Given the description of an element on the screen output the (x, y) to click on. 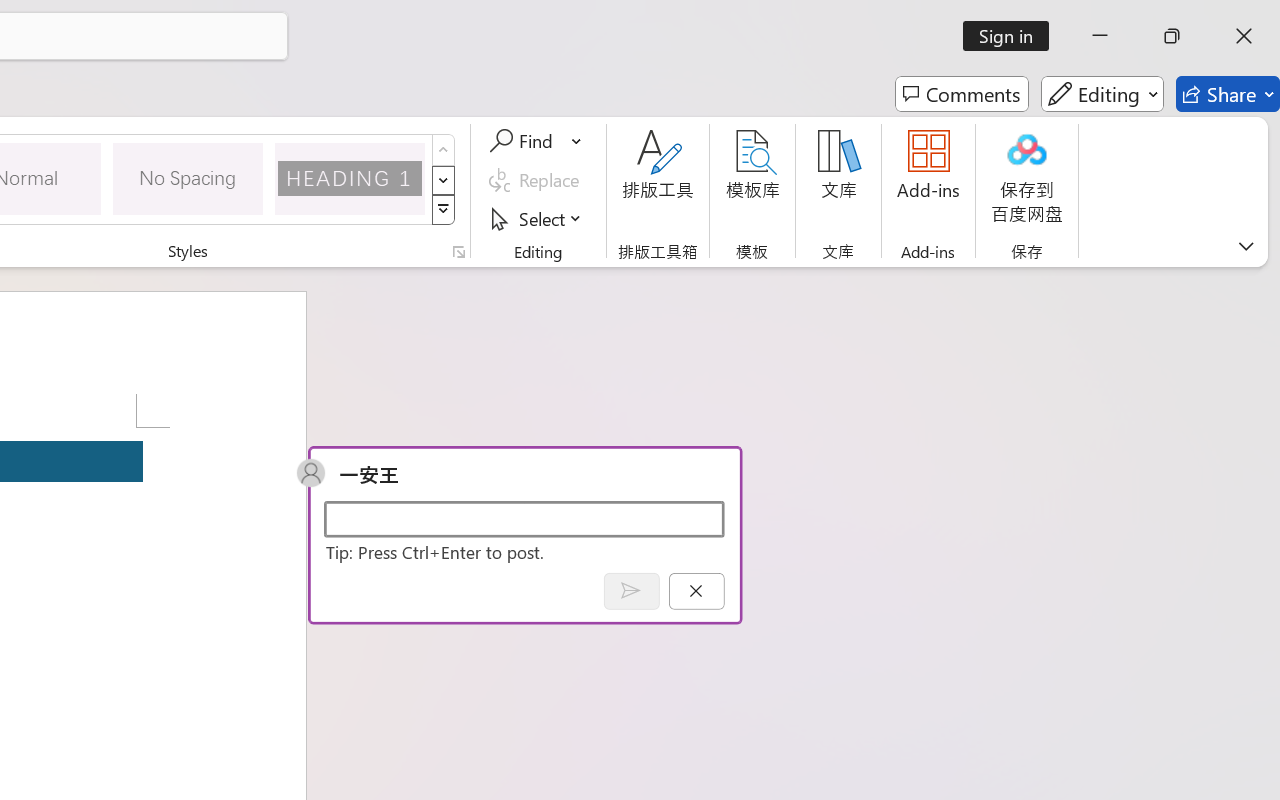
Cancel (696, 590)
